Given the description of an element on the screen output the (x, y) to click on. 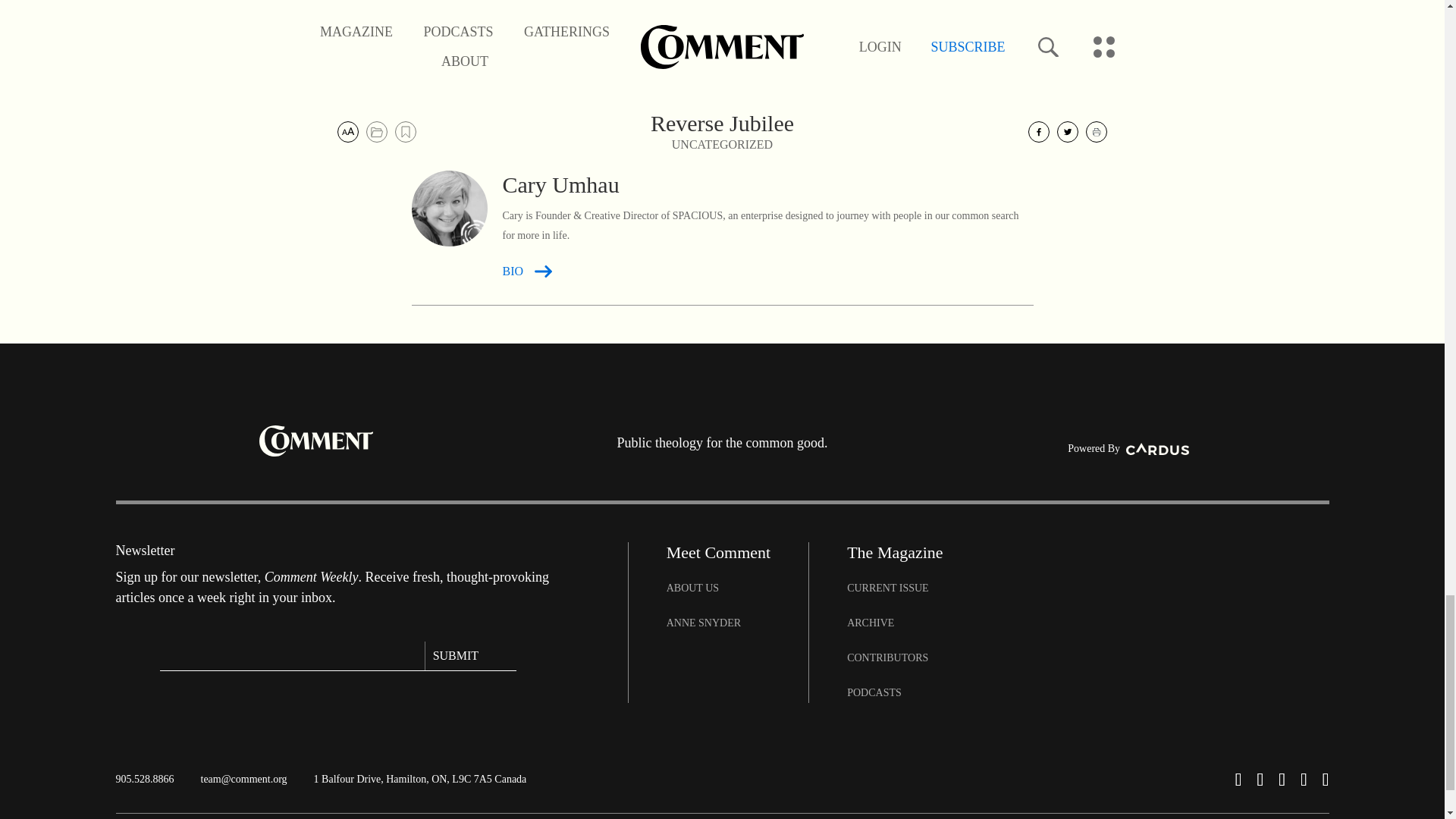
Comment Logo - Cream (315, 440)
Submit (470, 655)
